Given the description of an element on the screen output the (x, y) to click on. 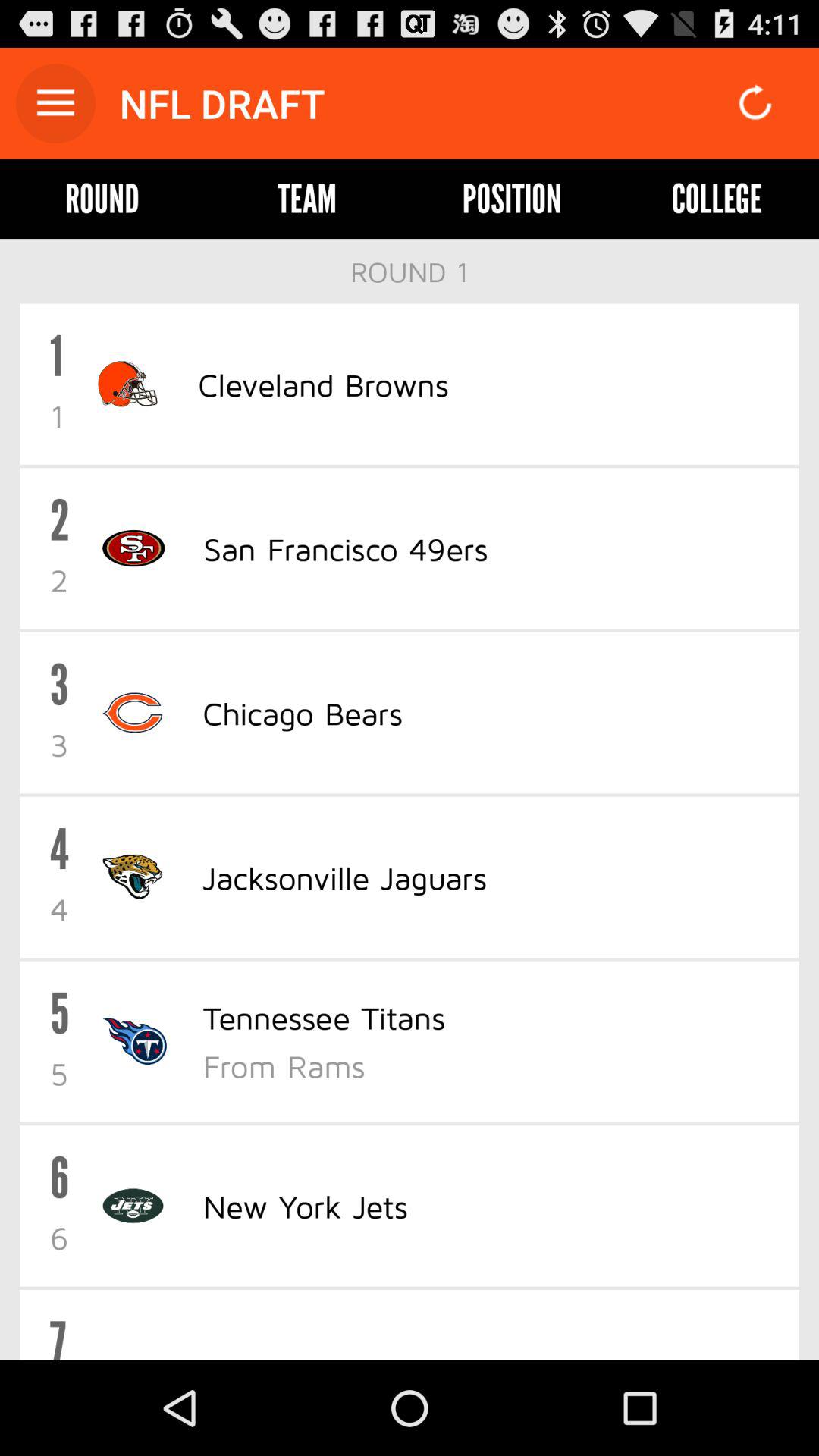
toggle menu option (55, 103)
